Given the description of an element on the screen output the (x, y) to click on. 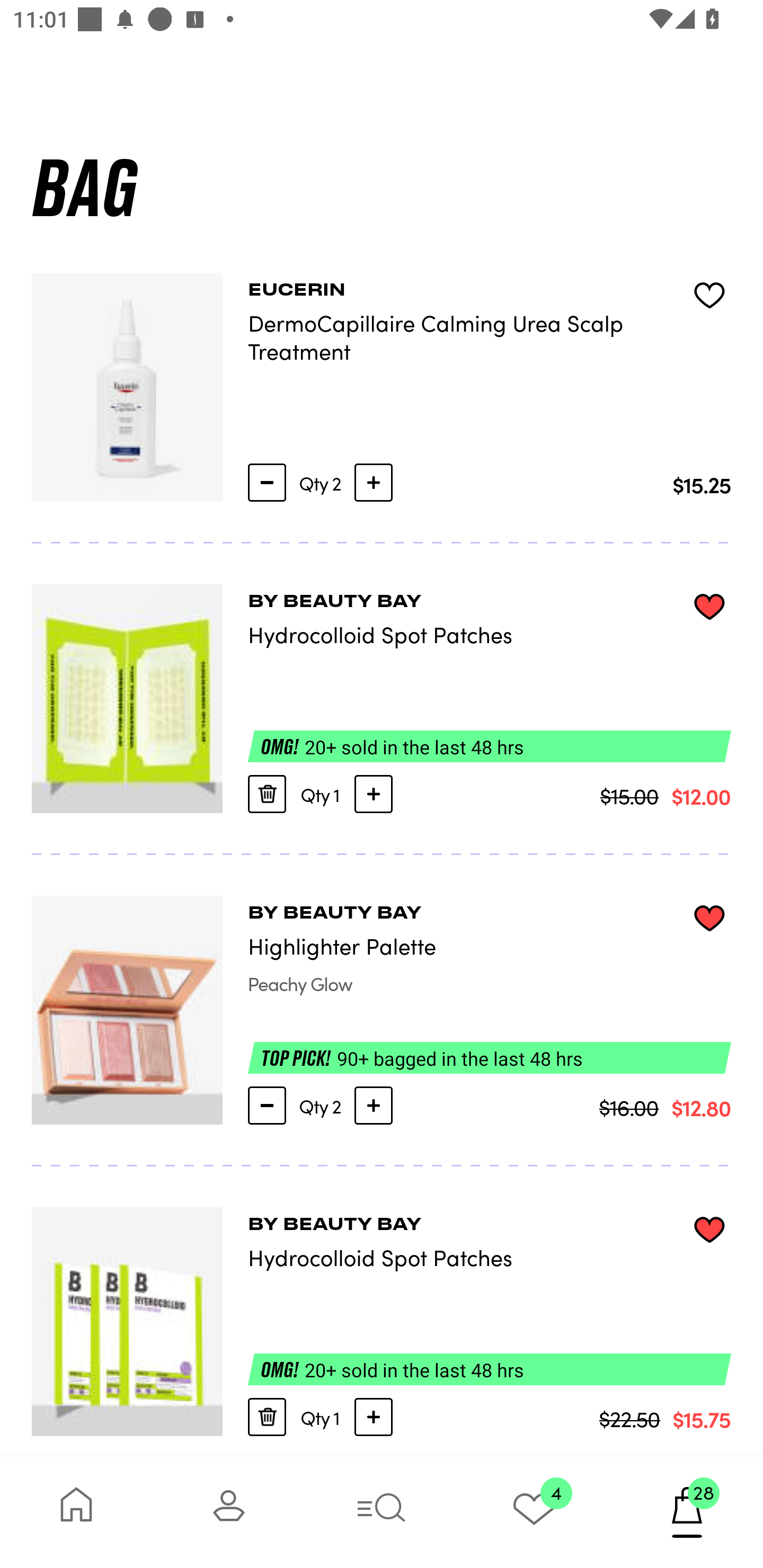
4 (533, 1512)
28 (686, 1512)
